Given the description of an element on the screen output the (x, y) to click on. 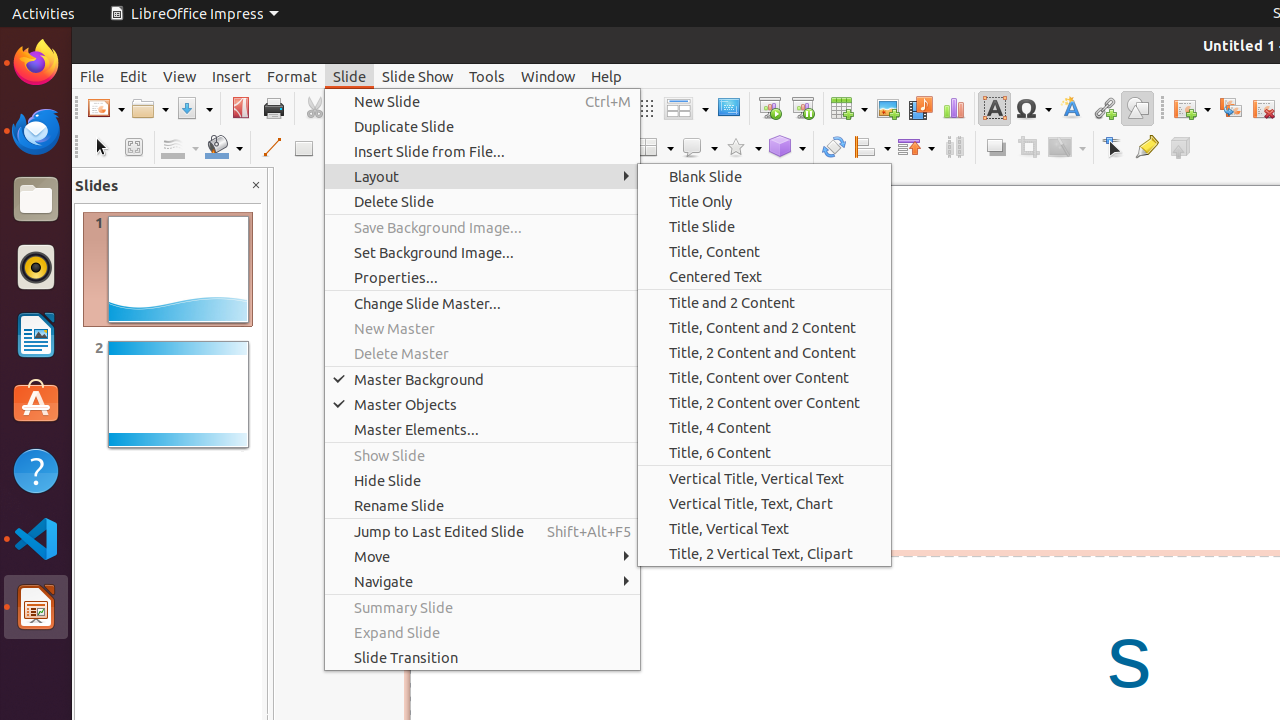
Line Element type: push-button (270, 147)
Ubuntu Software Element type: push-button (36, 402)
Save Background Image... Element type: menu-item (482, 227)
Vertical Title, Vertical Text Element type: menu-item (764, 478)
Window Element type: menu (548, 76)
